Given the description of an element on the screen output the (x, y) to click on. 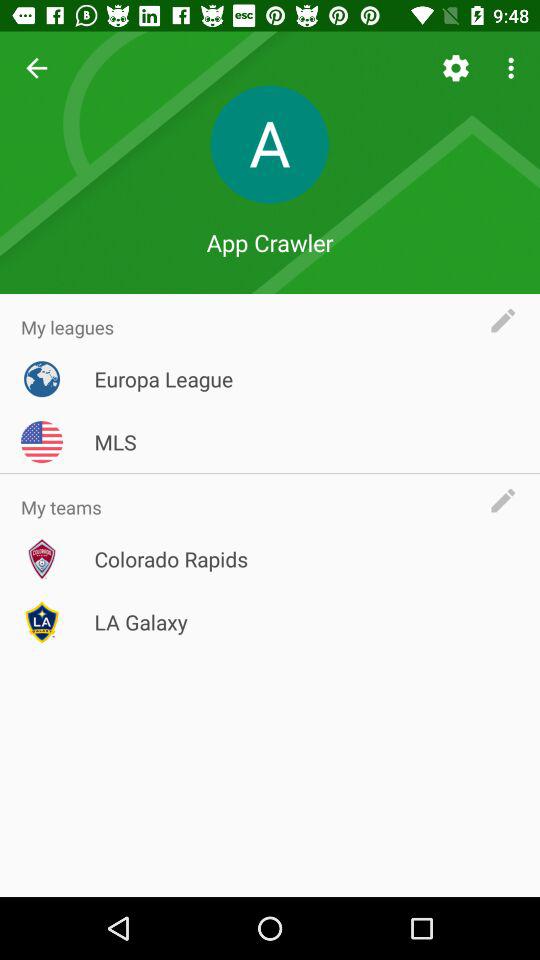
editing options (508, 320)
